Given the description of an element on the screen output the (x, y) to click on. 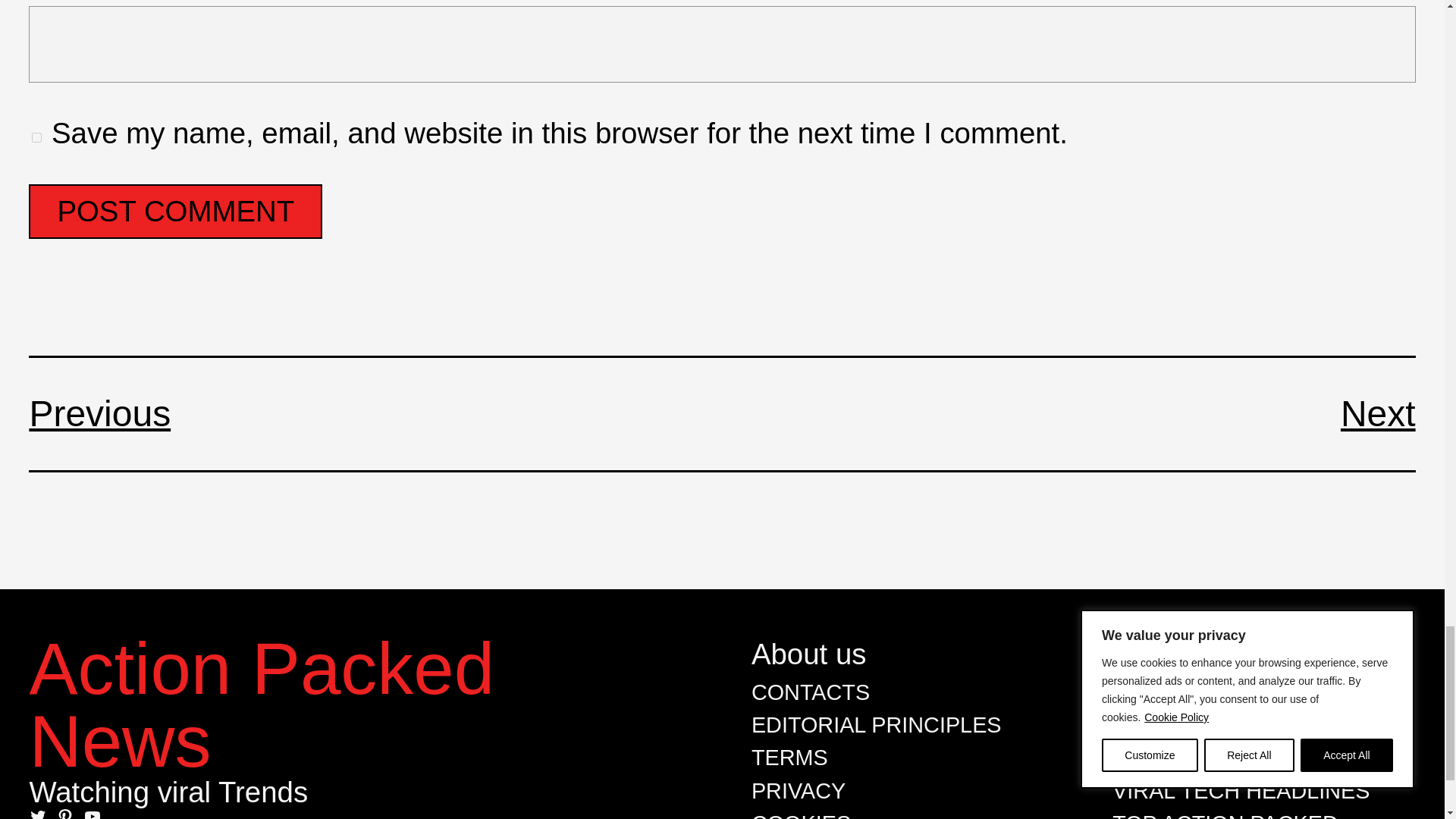
Post Comment (175, 211)
Post Comment (175, 211)
yes (37, 137)
